Given the description of an element on the screen output the (x, y) to click on. 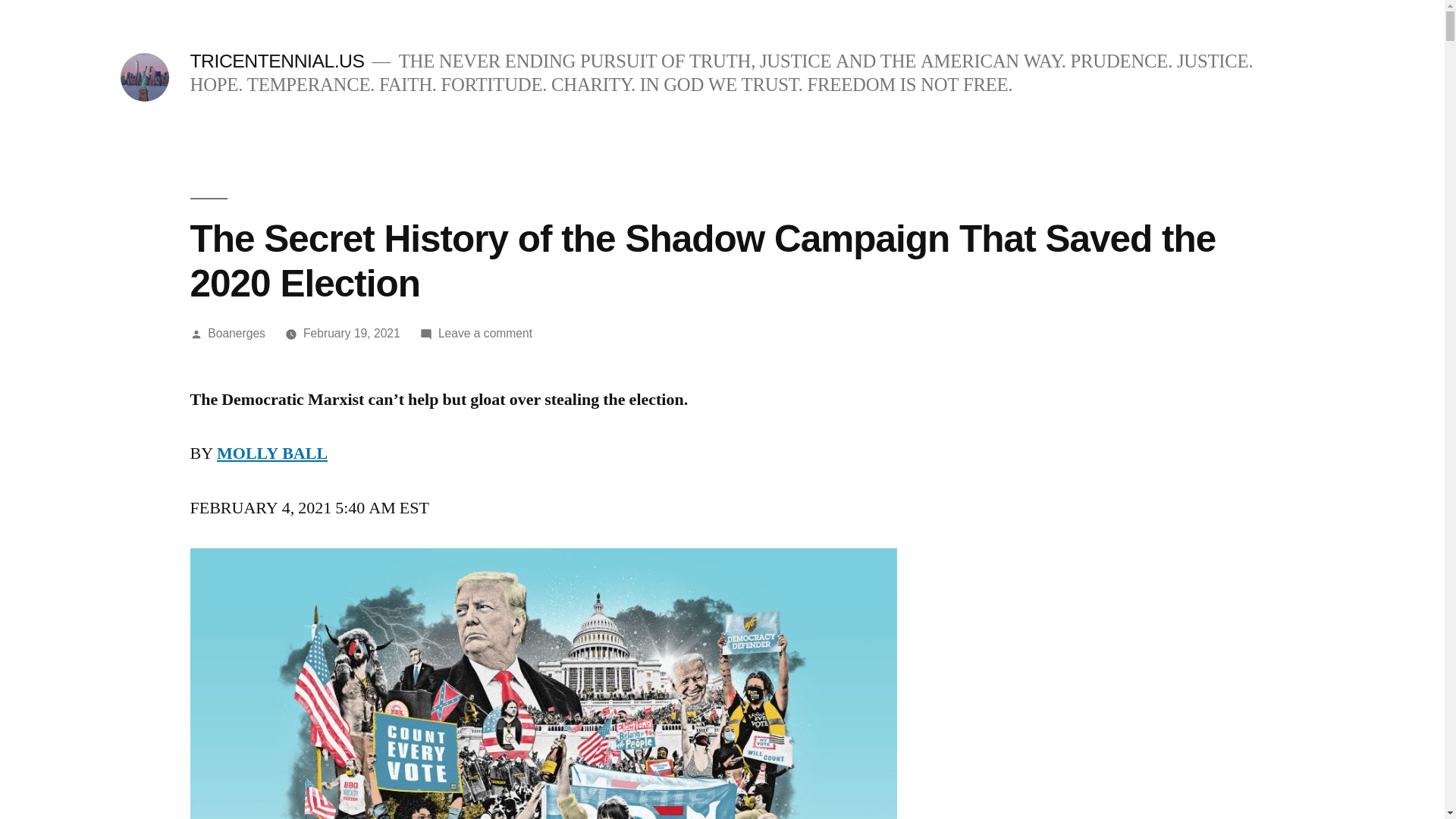
February 19, 2021 (351, 332)
Boanerges (236, 332)
MOLLY BALL (271, 453)
TRICENTENNIAL.US (276, 60)
